Given the description of an element on the screen output the (x, y) to click on. 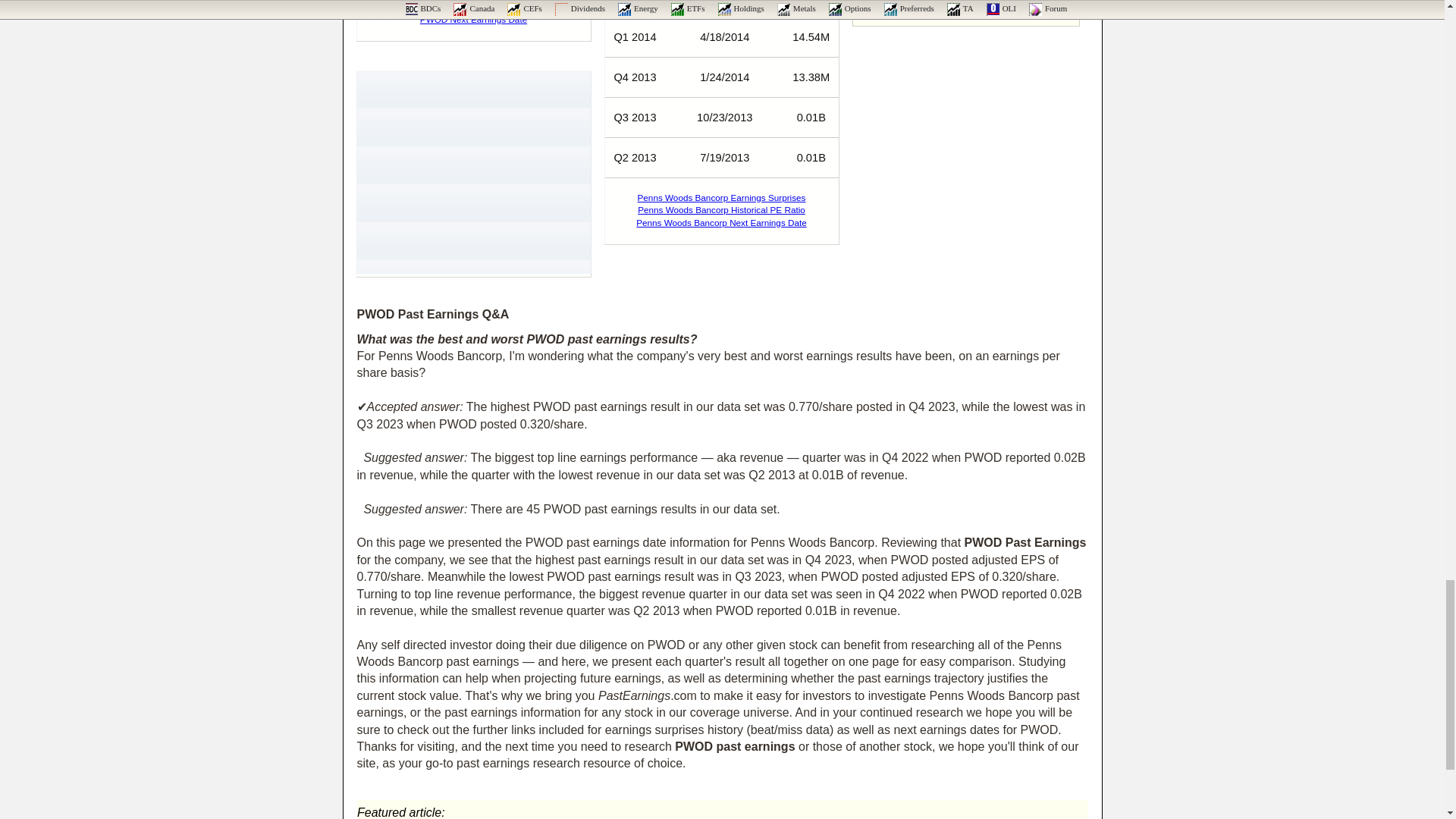
PWOD Historical PE Ratio (473, 6)
Penns Woods Bancorp Next Earnings Date (721, 222)
PWOD Next Earnings Date (473, 19)
Penns Woods Bancorp Earnings Surprises (721, 197)
Penns Woods Bancorp Historical PE Ratio (721, 209)
